Given the description of an element on the screen output the (x, y) to click on. 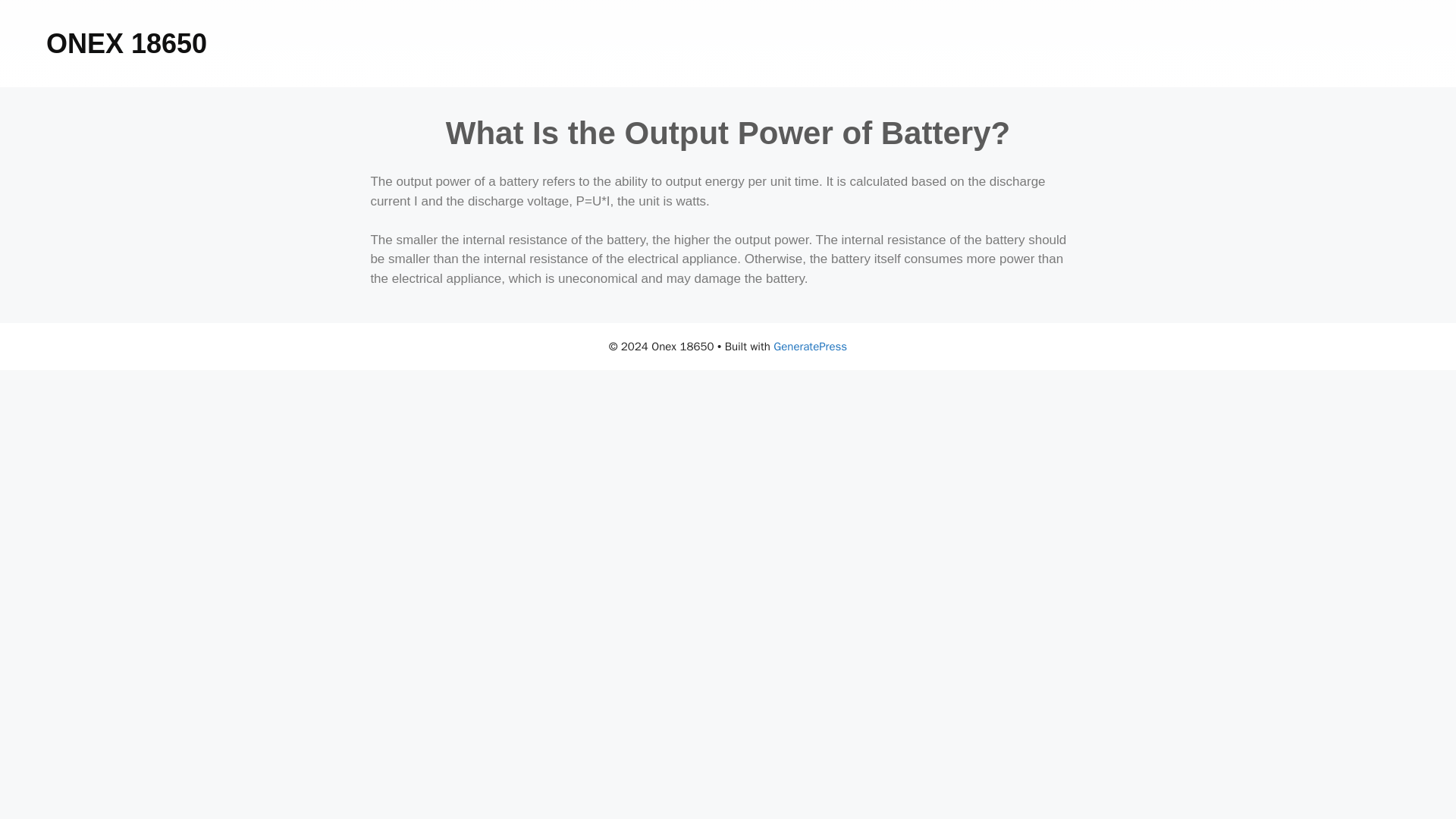
GeneratePress (810, 345)
